Given the description of an element on the screen output the (x, y) to click on. 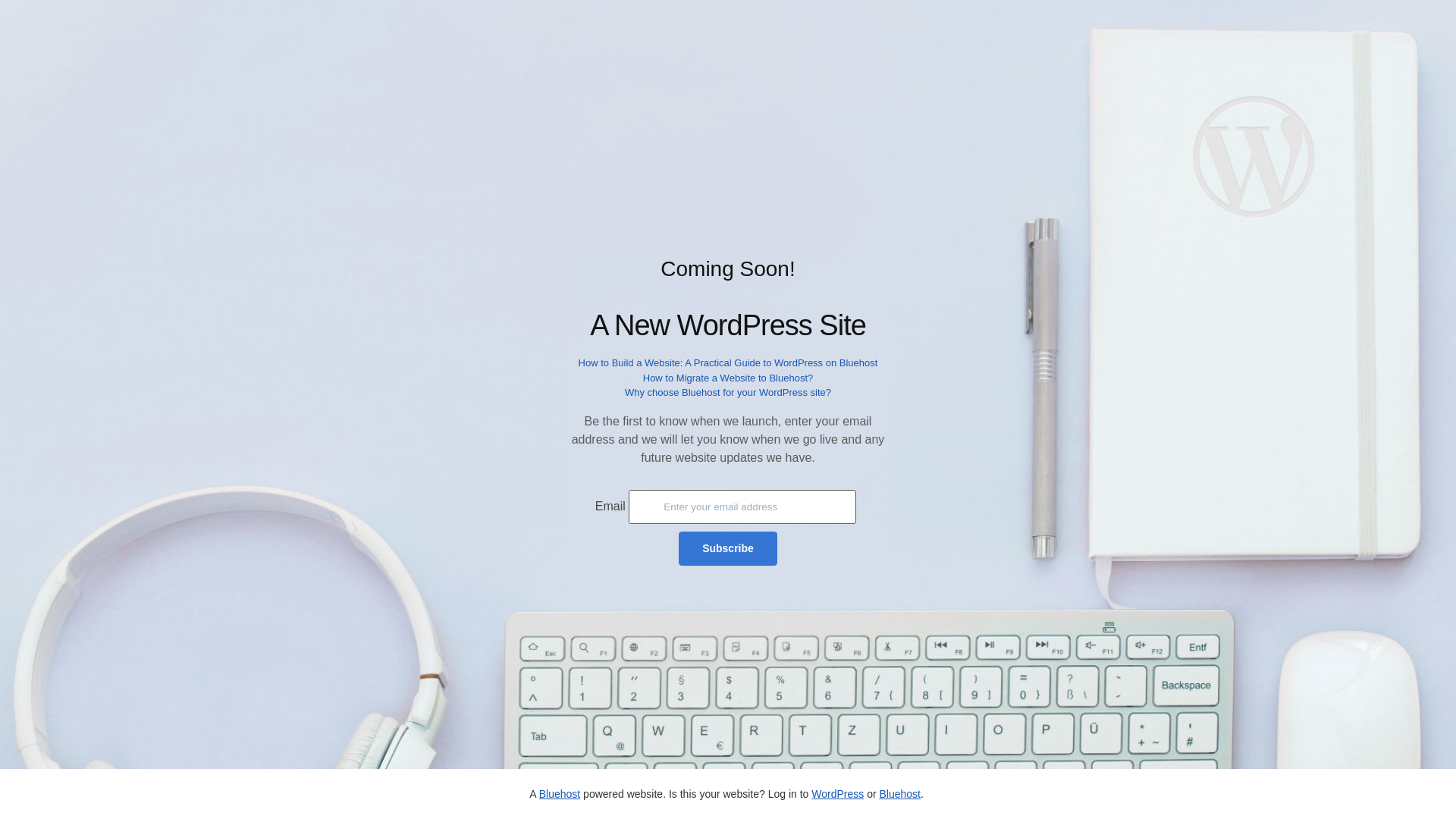
Subscribe (727, 548)
Bluehost (558, 793)
Why choose Bluehost for your WordPress site? (727, 392)
Subscribe (727, 548)
WordPress (836, 793)
How to Migrate a Website to Bluehost? (728, 378)
Bluehost (899, 793)
